Given the description of an element on the screen output the (x, y) to click on. 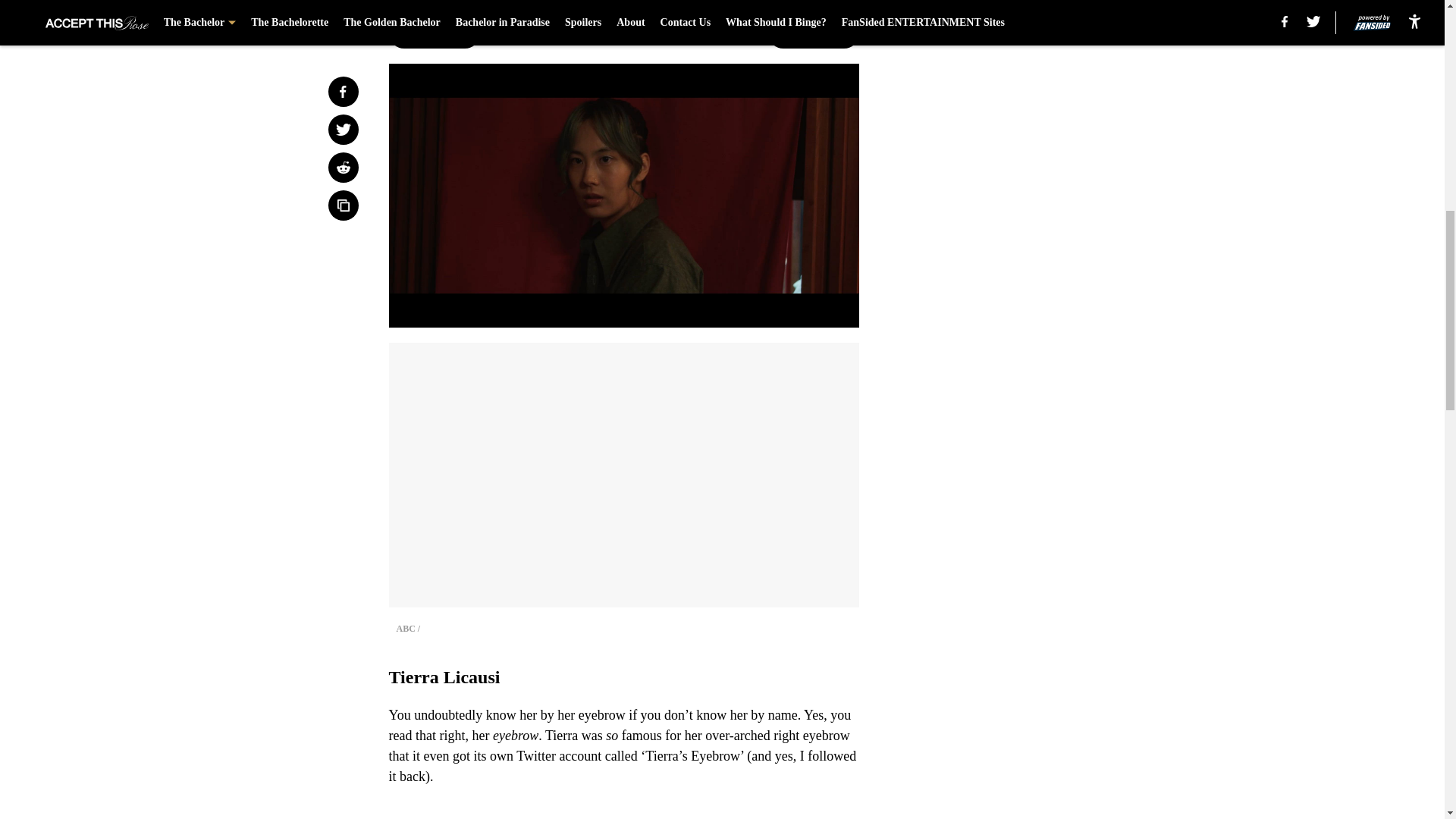
Next (813, 33)
Prev (433, 33)
3rd party ad content (1047, 113)
3rd party ad content (1047, 332)
